Given the description of an element on the screen output the (x, y) to click on. 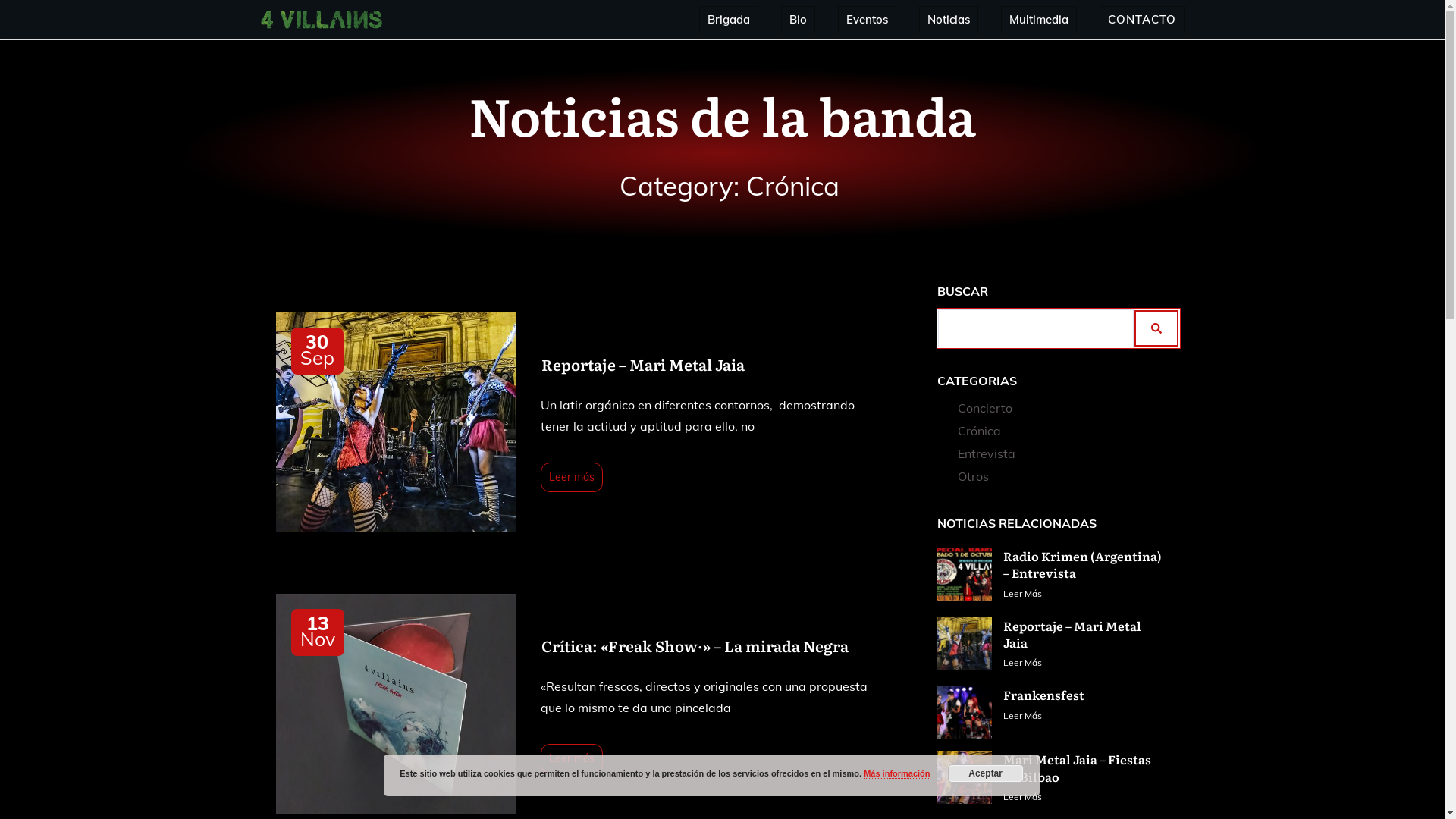
Sep Element type: text (317, 357)
Bio Element type: text (797, 19)
Eventos Element type: text (867, 19)
Otros Element type: text (972, 476)
Concierto Element type: text (984, 407)
Brigada Element type: text (727, 19)
Noticias Element type: text (947, 19)
Frankensfest Element type: text (1043, 694)
Multimedia Element type: text (1037, 19)
Aceptar Element type: text (985, 773)
Nov Element type: text (317, 638)
CONTACTO Element type: text (1141, 19)
Entrevista Element type: text (986, 453)
